Given the description of an element on the screen output the (x, y) to click on. 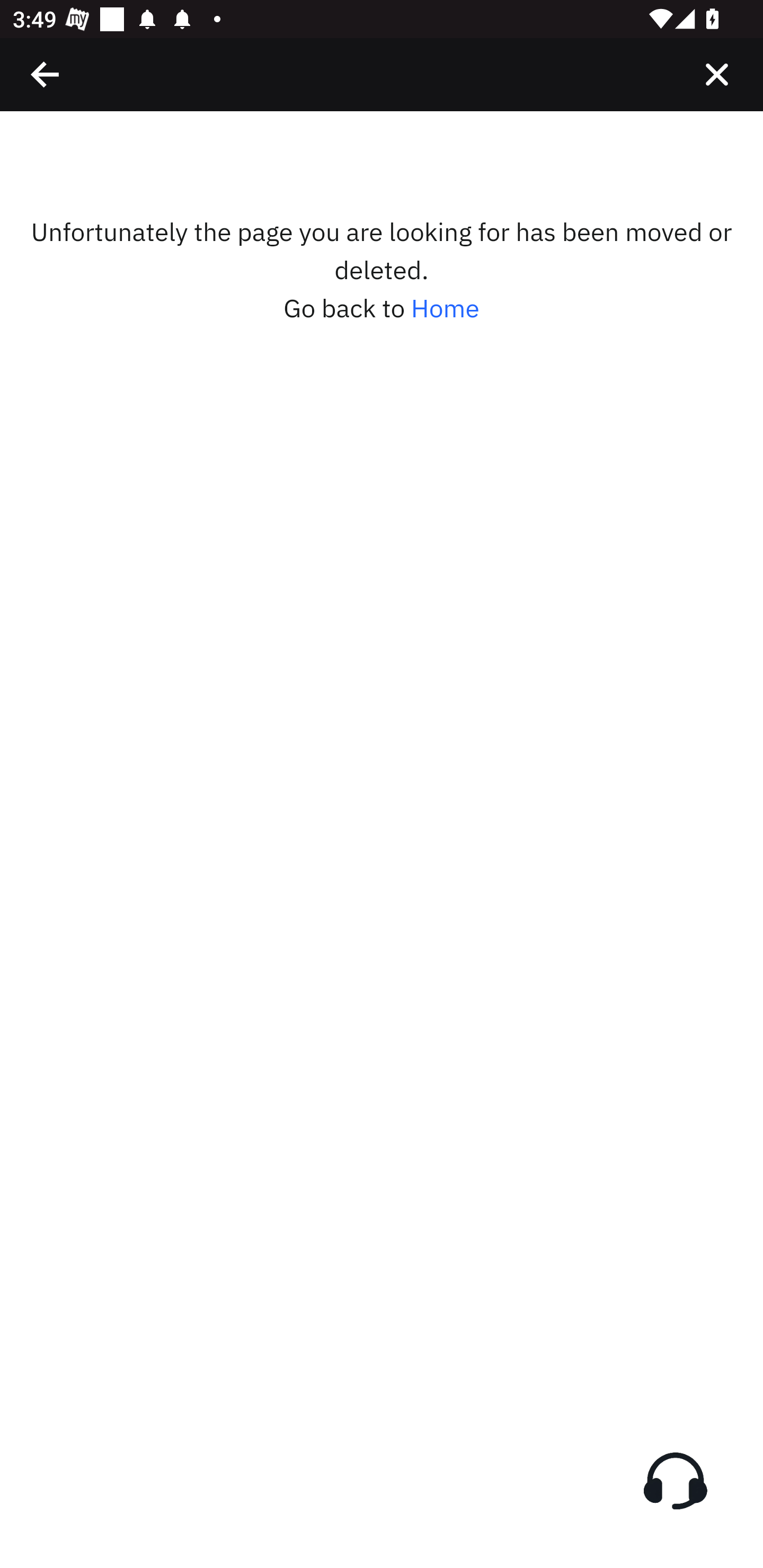
 (46, 74)
 (716, 74)
Home (444, 308)
Nova Your Virtual Assistant! button (674, 1480)
